Given the description of an element on the screen output the (x, y) to click on. 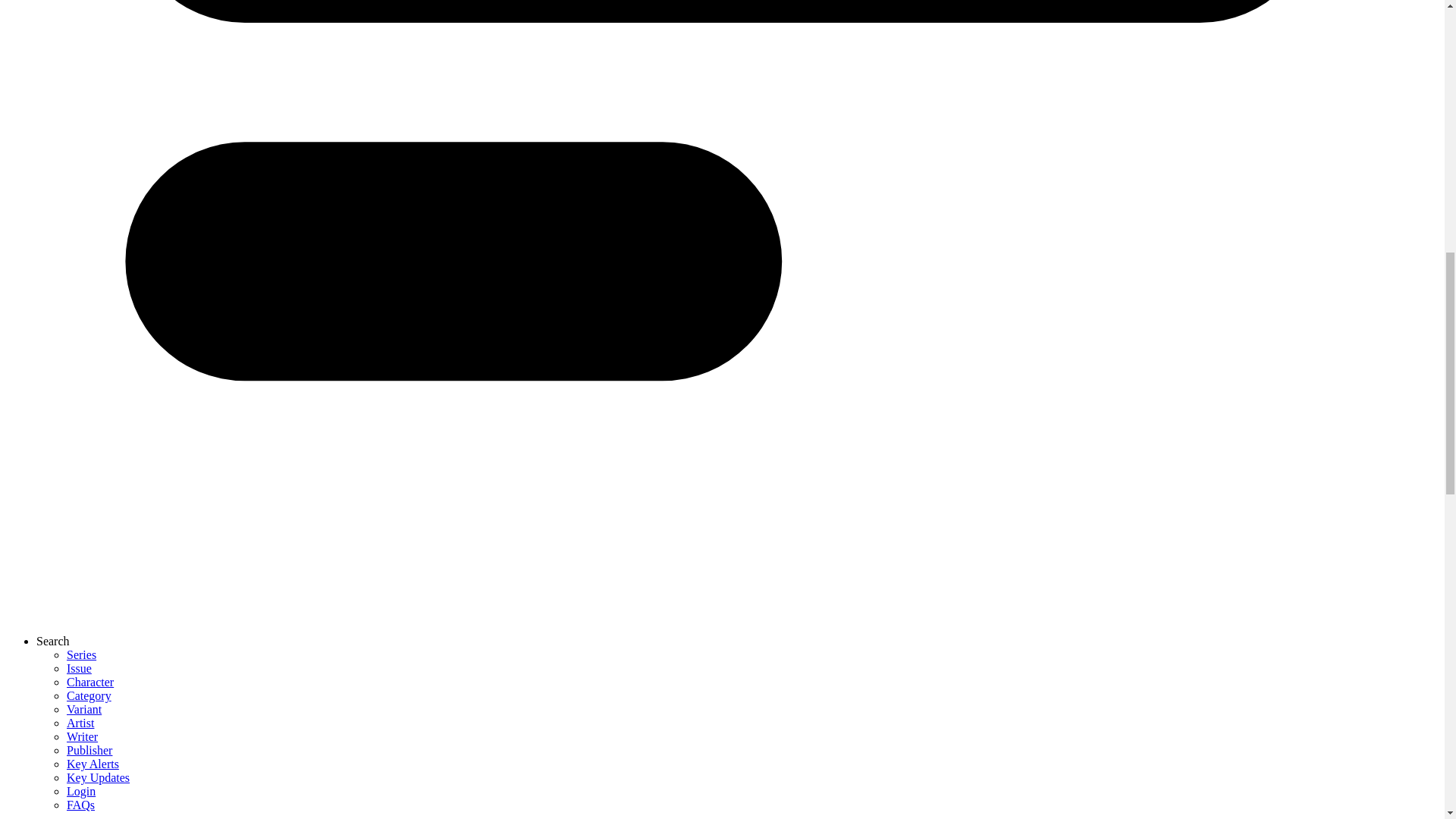
Category (89, 695)
Publisher (89, 749)
FAQs (80, 804)
Variant (83, 708)
Artist (80, 722)
Key Updates (97, 777)
Character (89, 681)
Login (81, 790)
Key Alerts (92, 763)
Issue (78, 667)
Series (81, 654)
Writer (81, 736)
